Given the description of an element on the screen output the (x, y) to click on. 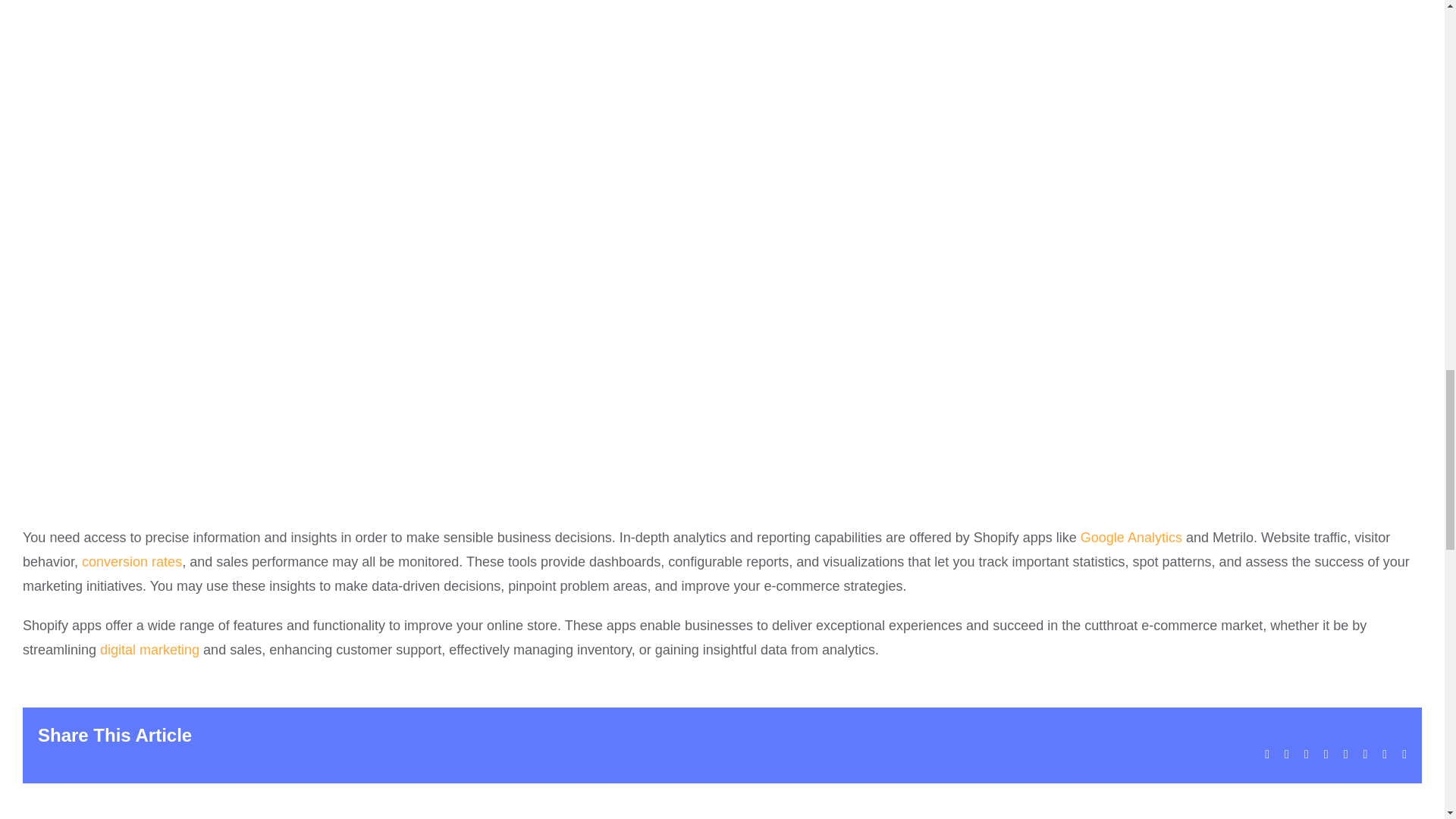
conversion rates (131, 561)
Google Analytics (1131, 537)
digital marketing (149, 649)
